Given the description of an element on the screen output the (x, y) to click on. 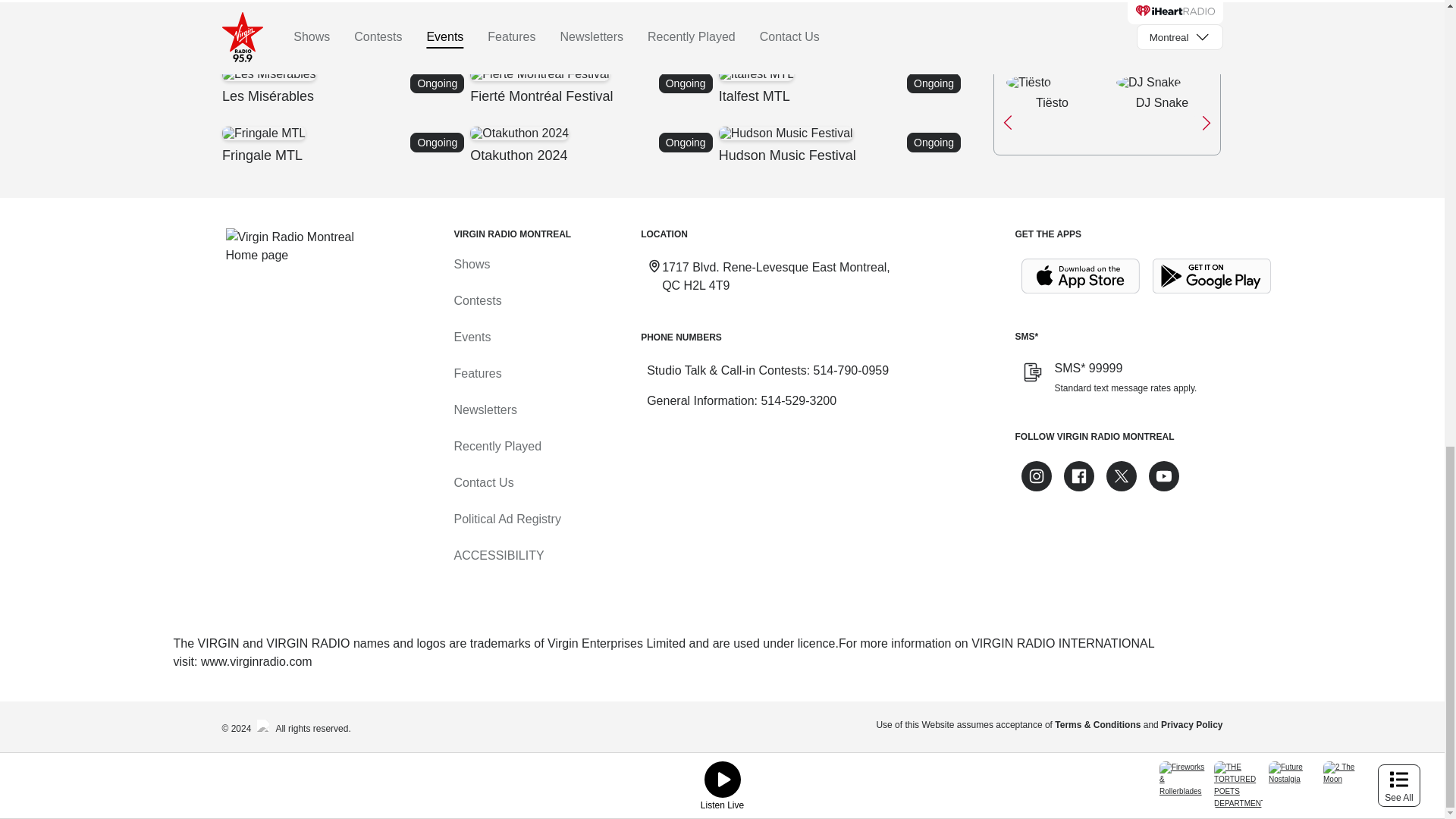
Sonorium: Daft Punk and their album (593, 26)
Sonorium: Daft Punk and their album (344, 145)
Montreal Pedestrian Streets 2024 (593, 145)
Fantasia Festival (575, 15)
Fantasia Festival (593, 26)
